Given the description of an element on the screen output the (x, y) to click on. 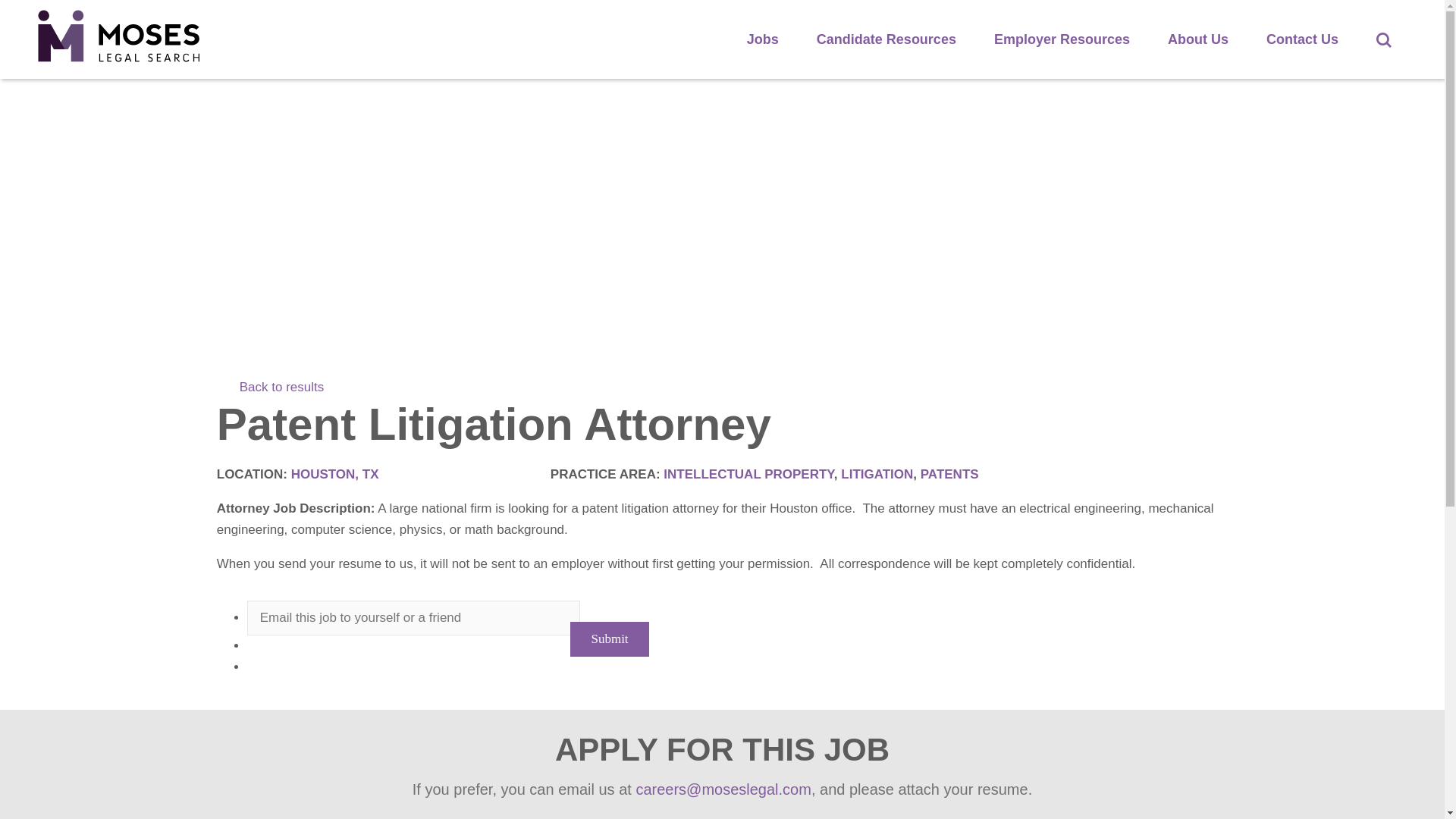
PATENTS (949, 473)
Employer Resources (1061, 38)
HOUSTON, TX (334, 473)
Search (1383, 39)
Back to results (270, 386)
Jobs (762, 38)
Candidate Resources (886, 38)
About Us (1197, 38)
LITIGATION (876, 473)
Submit (608, 638)
